Given the description of an element on the screen output the (x, y) to click on. 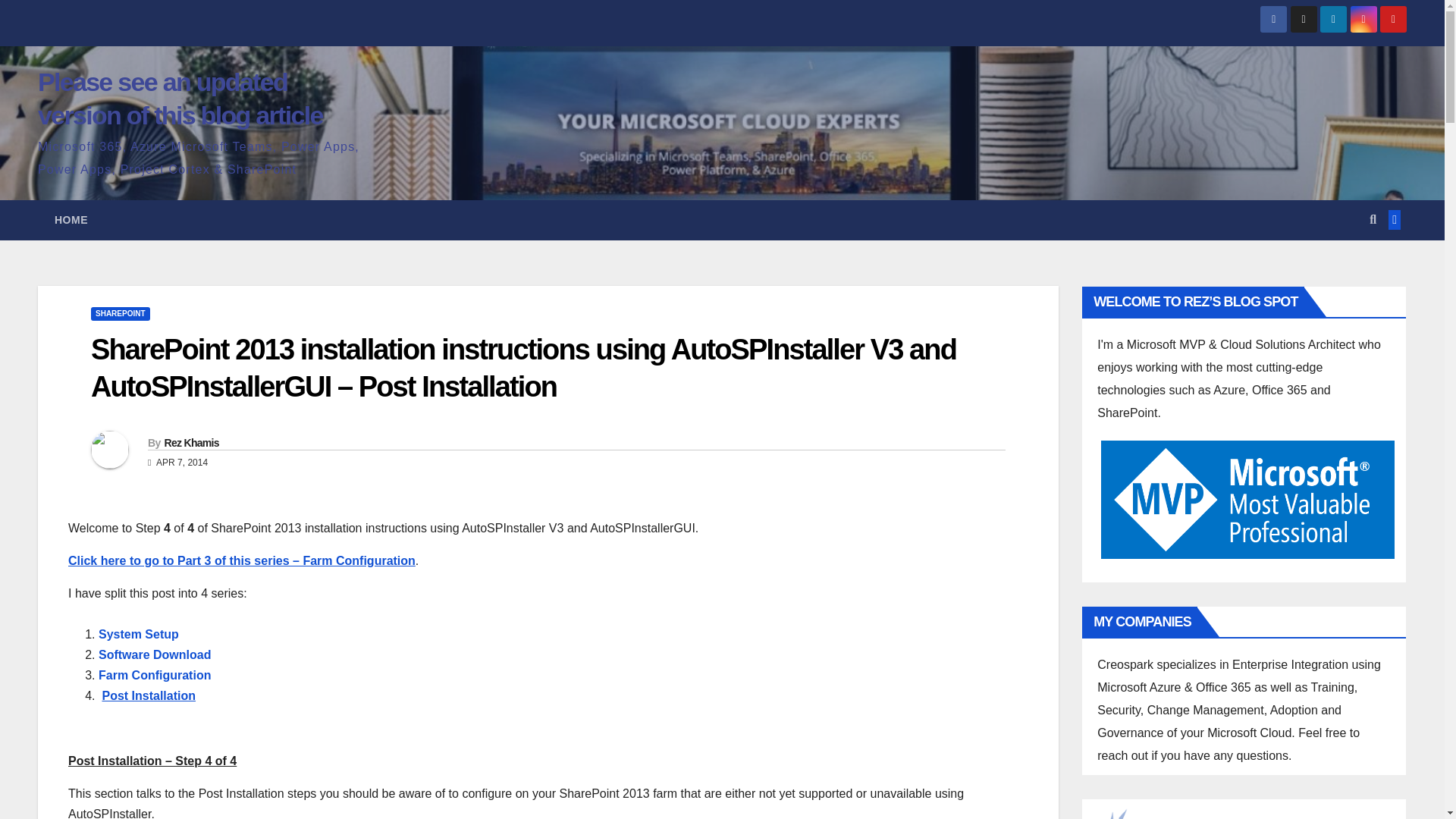
Rez Khamis (190, 442)
System Setup (139, 634)
HOME (70, 219)
Farm Configuration (155, 675)
Please see an updated version of this blog article (180, 98)
Home (70, 219)
Post Installation (148, 695)
SHAREPOINT (119, 314)
Software Download (155, 654)
